Given the description of an element on the screen output the (x, y) to click on. 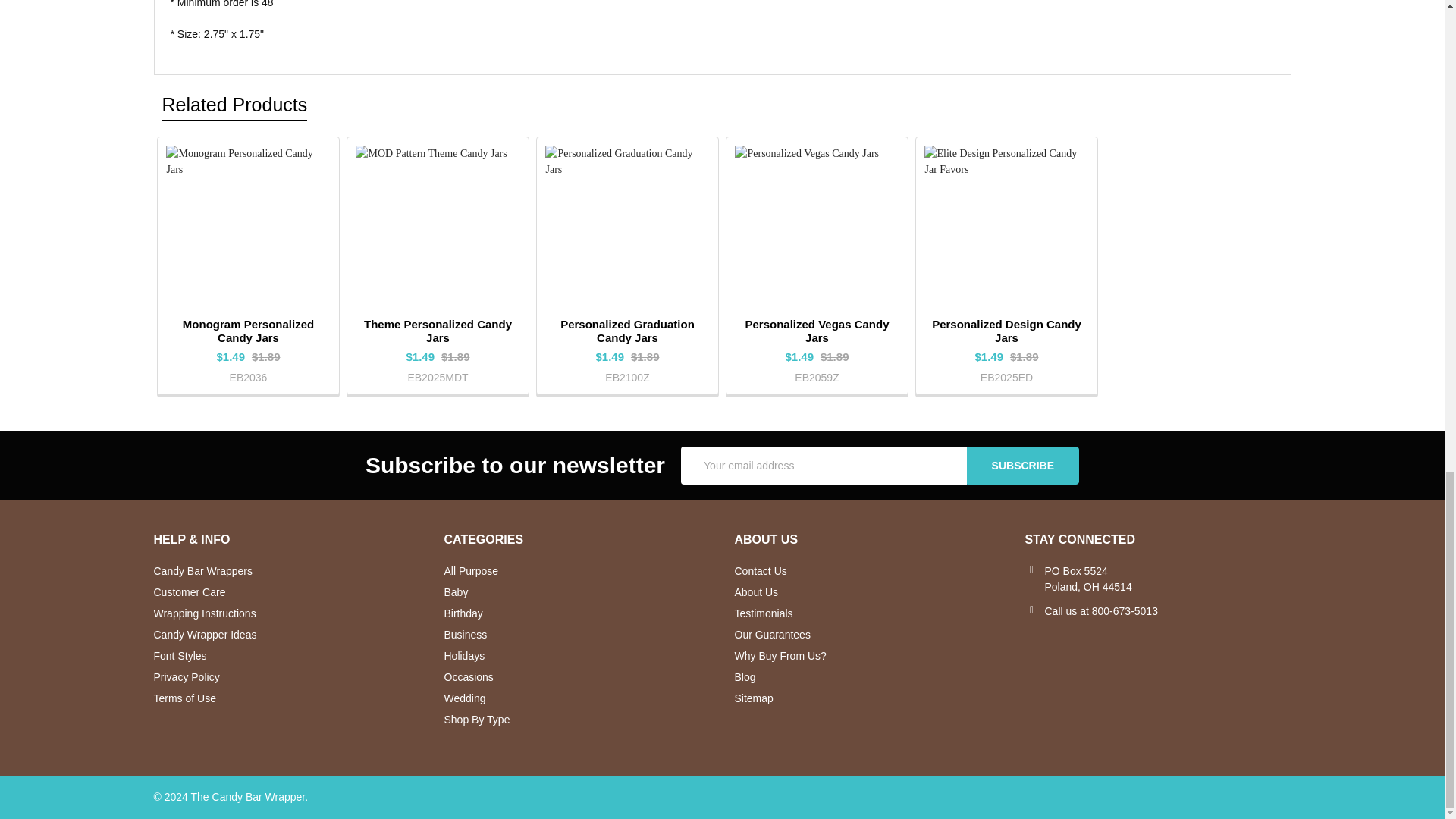
Personalized Vegas Candy Jars (816, 227)
Monogram Personalized Candy Jars (247, 227)
MOD Pattern Theme Candy Jars (437, 227)
Subscribe (1022, 465)
Personalized Graduation Candy Jars (626, 227)
Elite Design Personalized Candy Jar Favors (1005, 227)
